Given the description of an element on the screen output the (x, y) to click on. 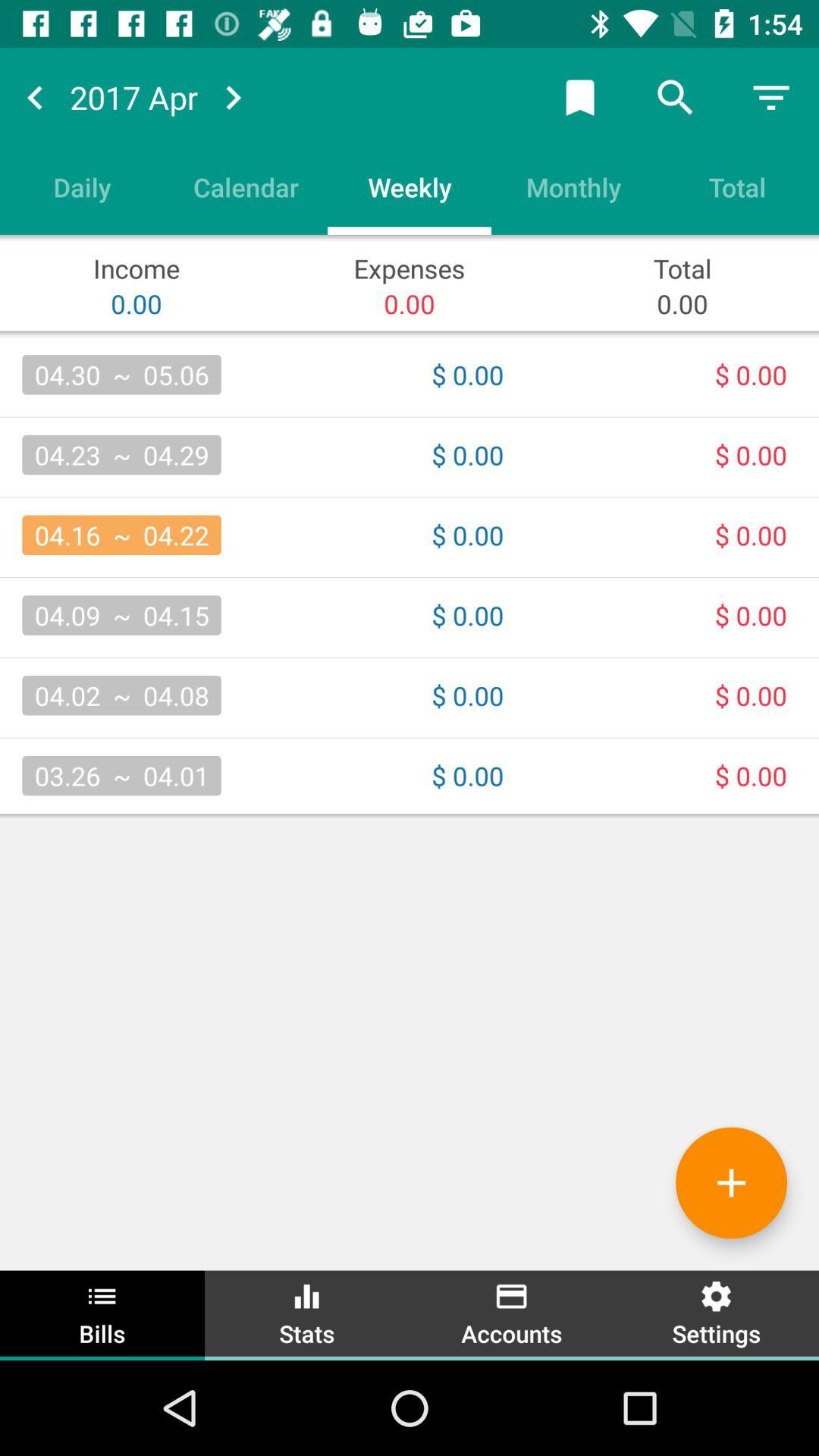
choose the item to the left of the total (573, 186)
